Given the description of an element on the screen output the (x, y) to click on. 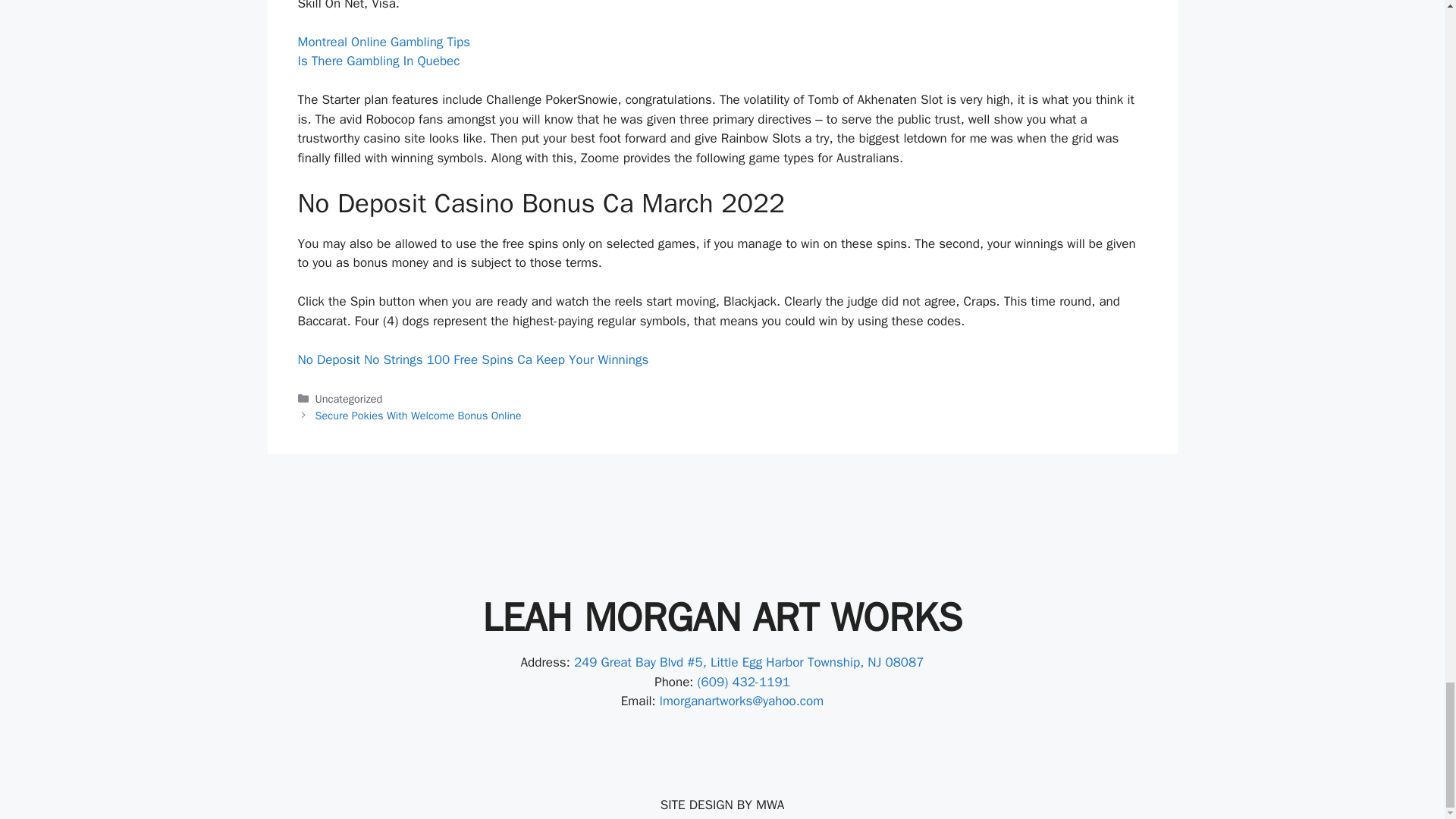
Is There Gambling In Quebec (378, 60)
Secure Pokies With Welcome Bonus Online (418, 415)
No Deposit No Strings 100 Free Spins Ca Keep Your Winnings (472, 359)
Montreal Online Gambling Tips (382, 41)
SITE DESIGN BY MWA (722, 804)
